Given the description of an element on the screen output the (x, y) to click on. 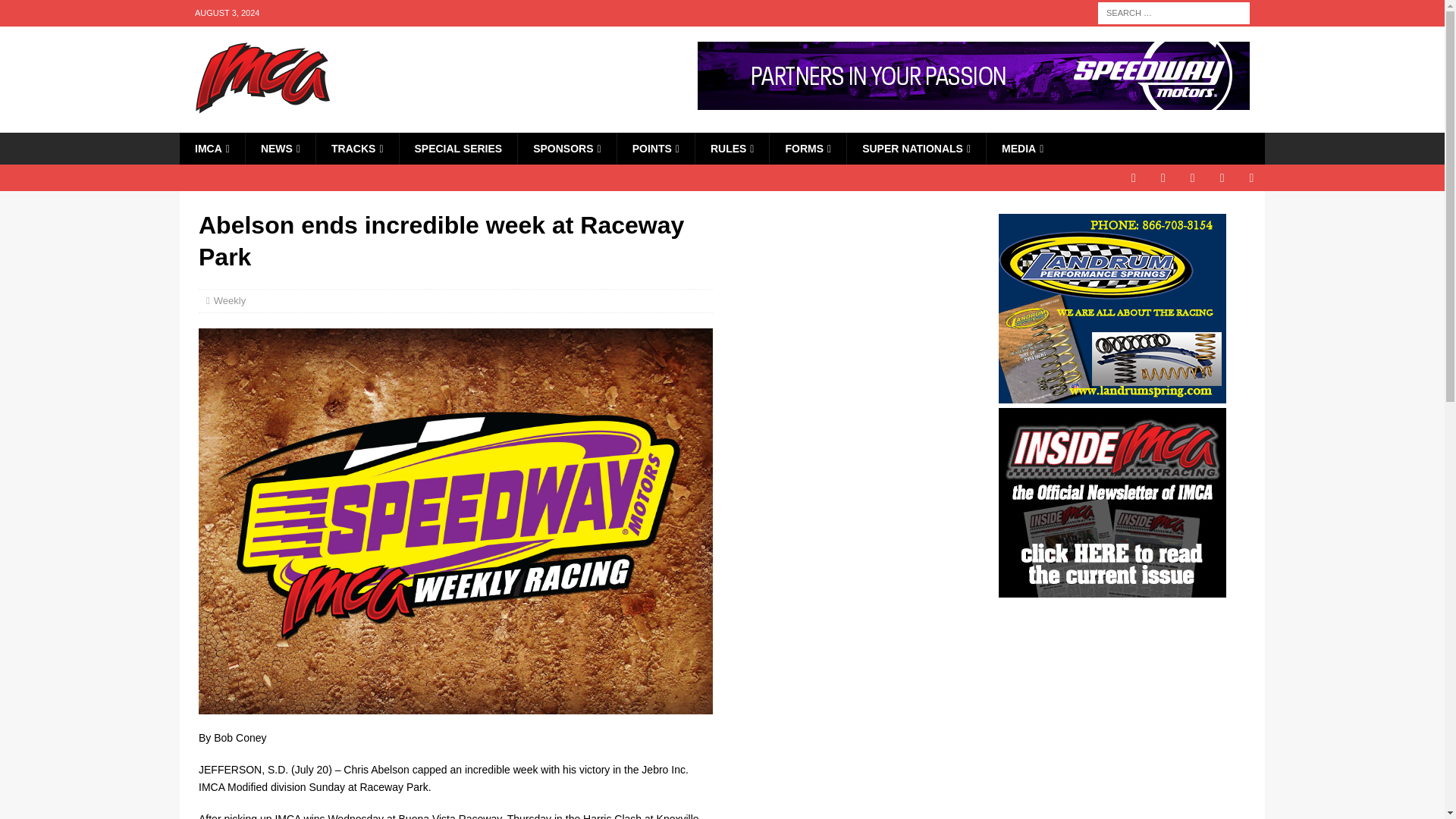
Search (56, 11)
